Given the description of an element on the screen output the (x, y) to click on. 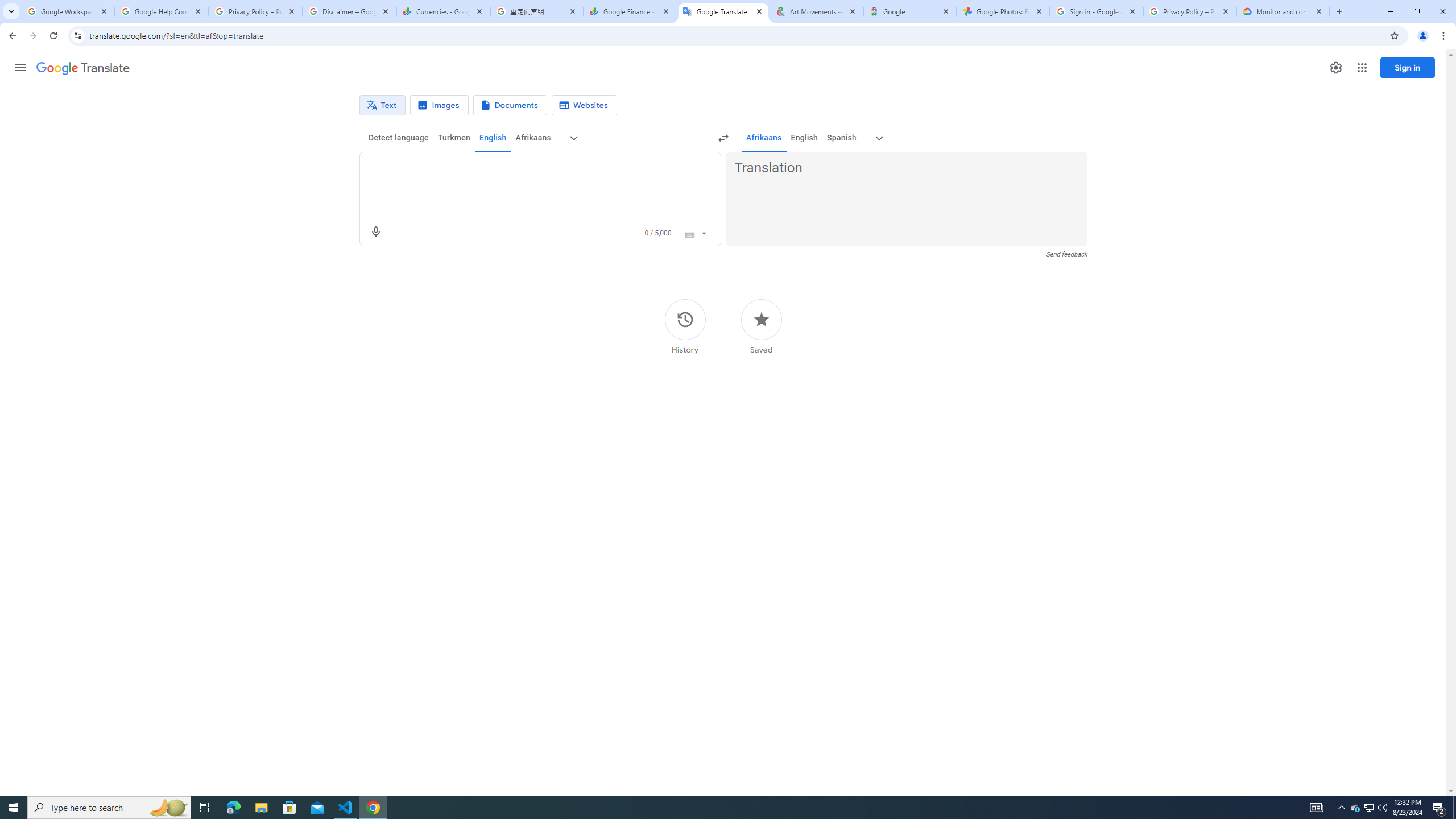
0 of 5,000 characters used (658, 232)
Website translation (584, 105)
Swap languages (Ctrl+Shift+S) (723, 137)
Image translation (439, 105)
More source languages (573, 137)
Currencies - Google Finance (443, 11)
Translate by voice (375, 231)
Afrikaans (763, 137)
Google (909, 11)
